Given the description of an element on the screen output the (x, y) to click on. 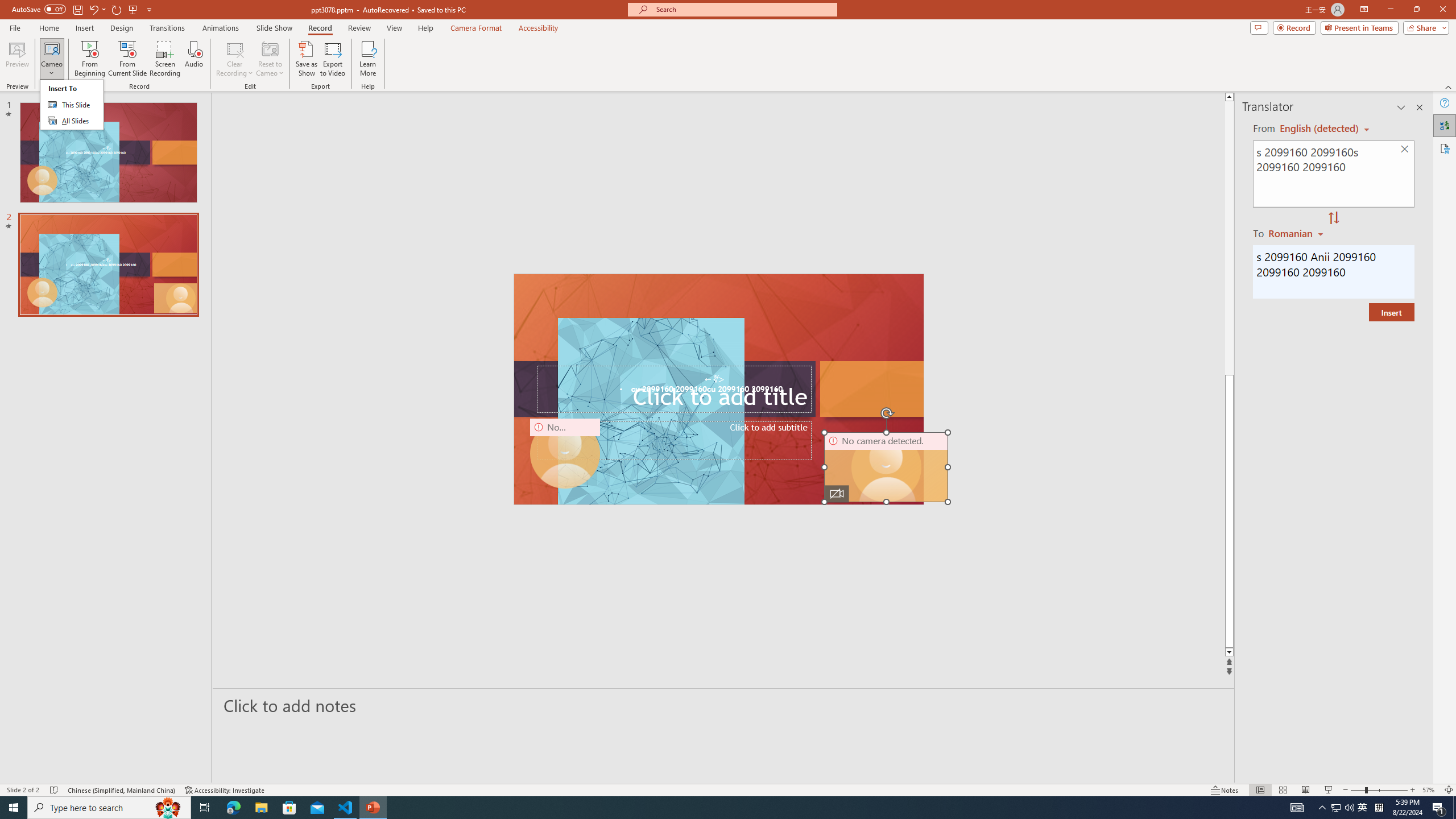
Page 1 content (719, 416)
